Given the description of an element on the screen output the (x, y) to click on. 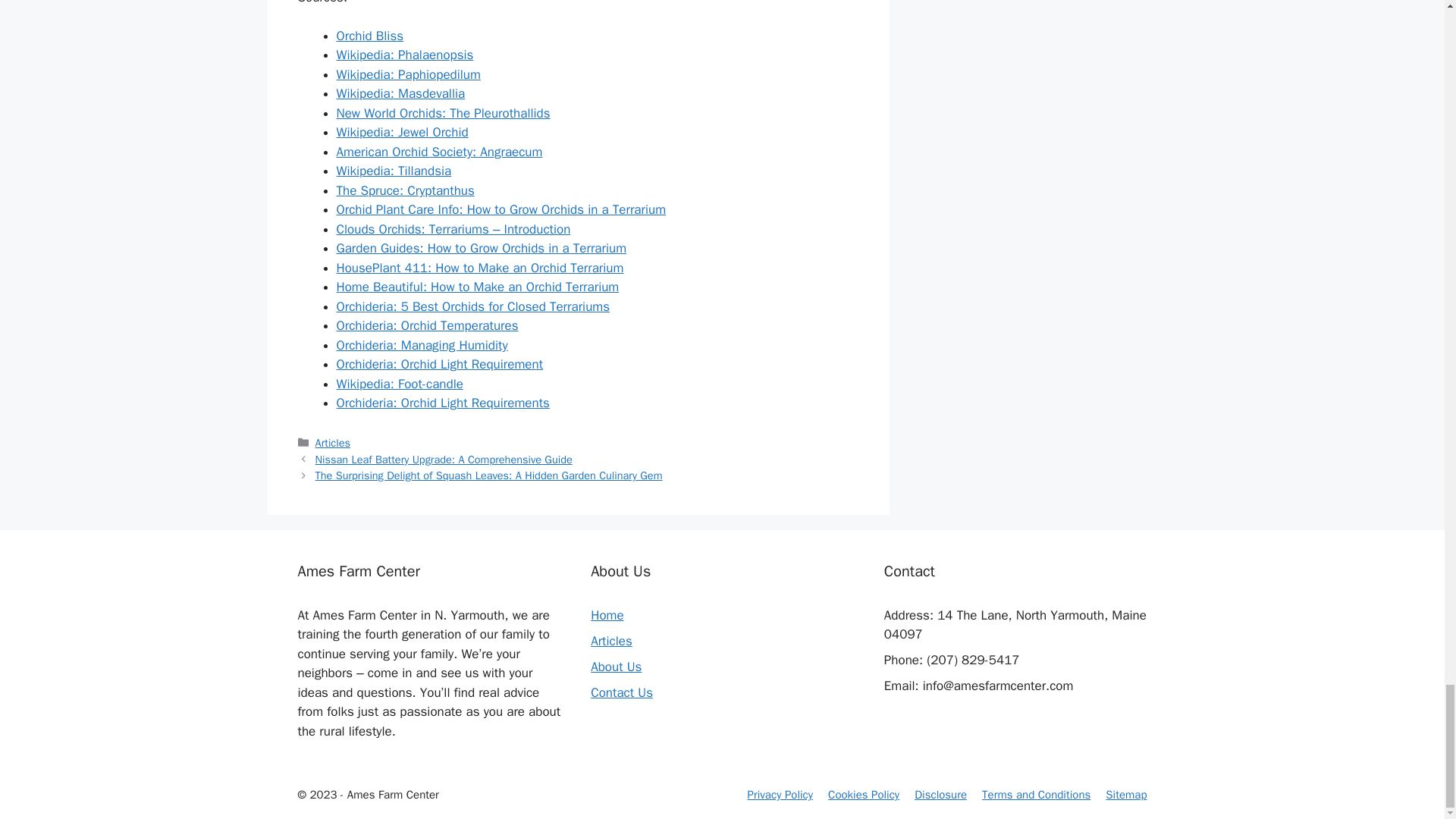
HousePlant 411: How to Make an Orchid Terrarium (480, 268)
American Orchid Society: Angraecum (439, 151)
Wikipedia: Jewel Orchid (402, 132)
Orchideria: 5 Best Orchids for Closed Terrariums (473, 306)
The Spruce: Cryptanthus (405, 190)
Garden Guides: How to Grow Orchids in a Terrarium (481, 248)
Orchid Plant Care Info: How to Grow Orchids in a Terrarium (501, 209)
Wikipedia: Tillandsia (393, 170)
Wikipedia: Phalaenopsis (405, 54)
Wikipedia: Paphiopedilum (408, 74)
